Given the description of an element on the screen output the (x, y) to click on. 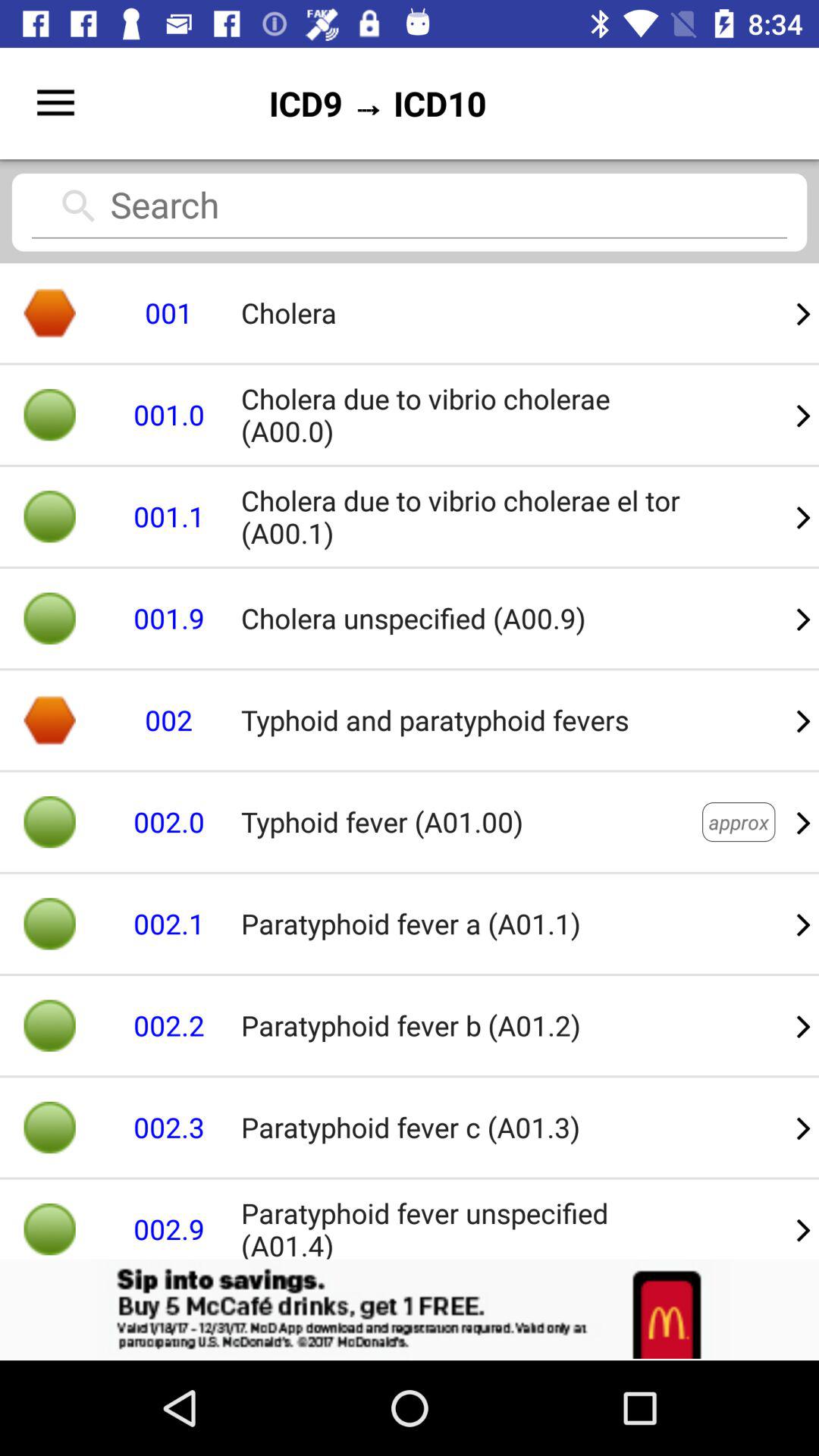
jump until the approx (738, 821)
